Given the description of an element on the screen output the (x, y) to click on. 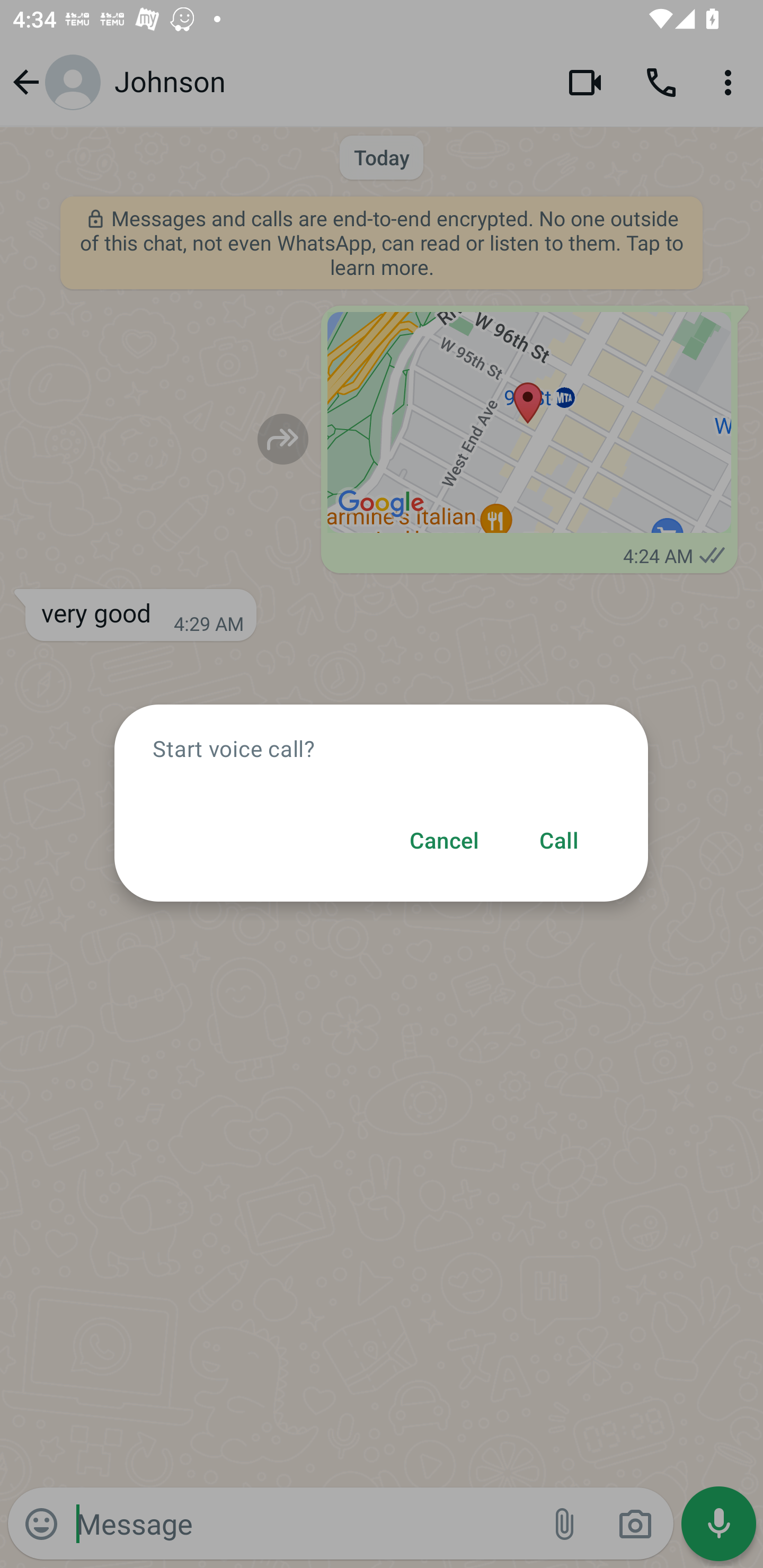
Cancel (444, 840)
Call (558, 840)
